Given the description of an element on the screen output the (x, y) to click on. 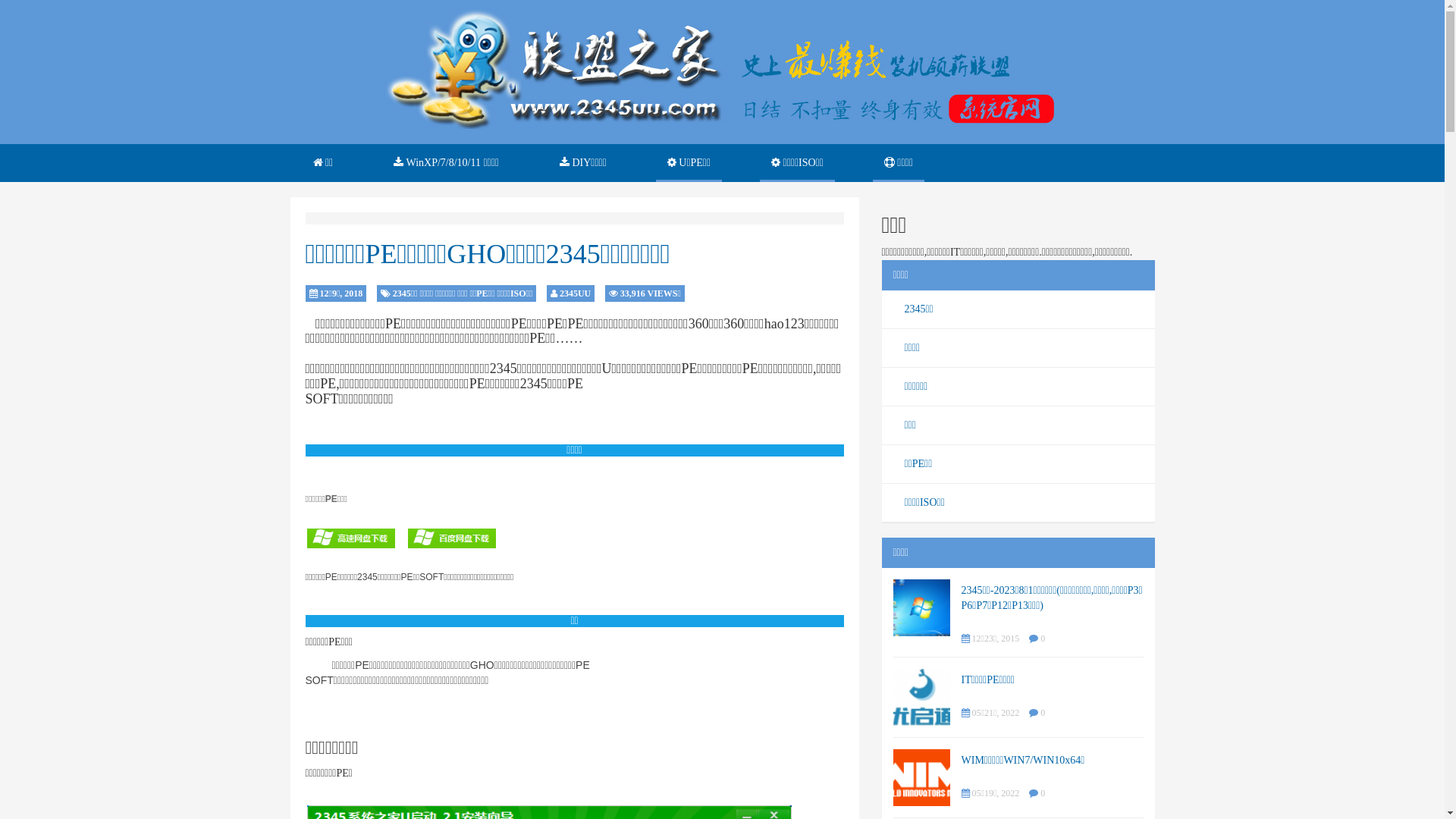
0 Element type: text (1042, 792)
2345UU Element type: text (574, 293)
0 Element type: text (1042, 712)
0 Element type: text (1042, 638)
